Given the description of an element on the screen output the (x, y) to click on. 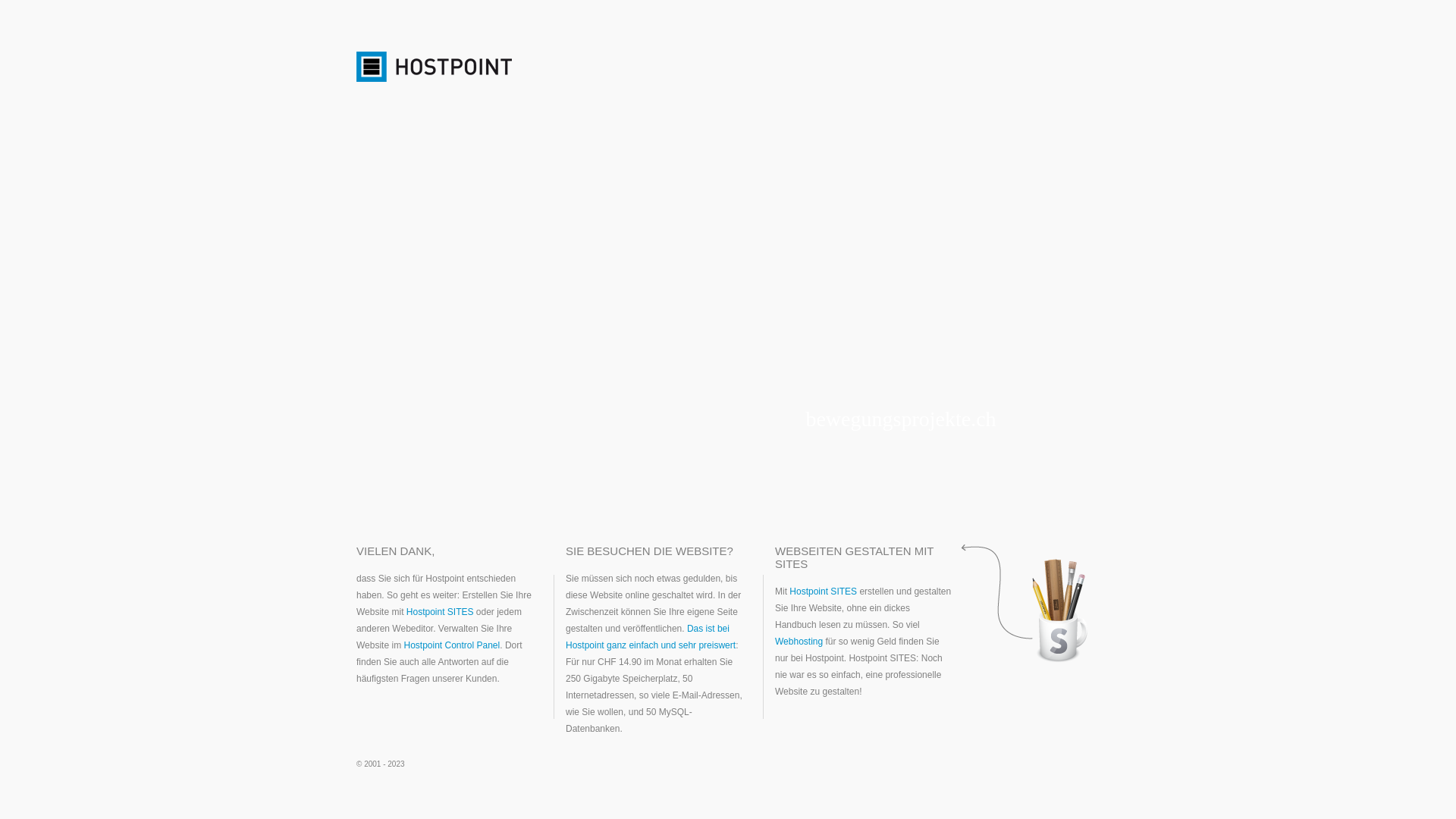
Hostpoint SITES Element type: text (822, 591)
Webhosting Element type: text (798, 641)
Hostpoint SITES Element type: text (439, 611)
Hostpoint Control Panel Element type: text (451, 645)
Das ist bei Hostpoint ganz einfach und sehr preiswert Element type: text (650, 636)
